Given the description of an element on the screen output the (x, y) to click on. 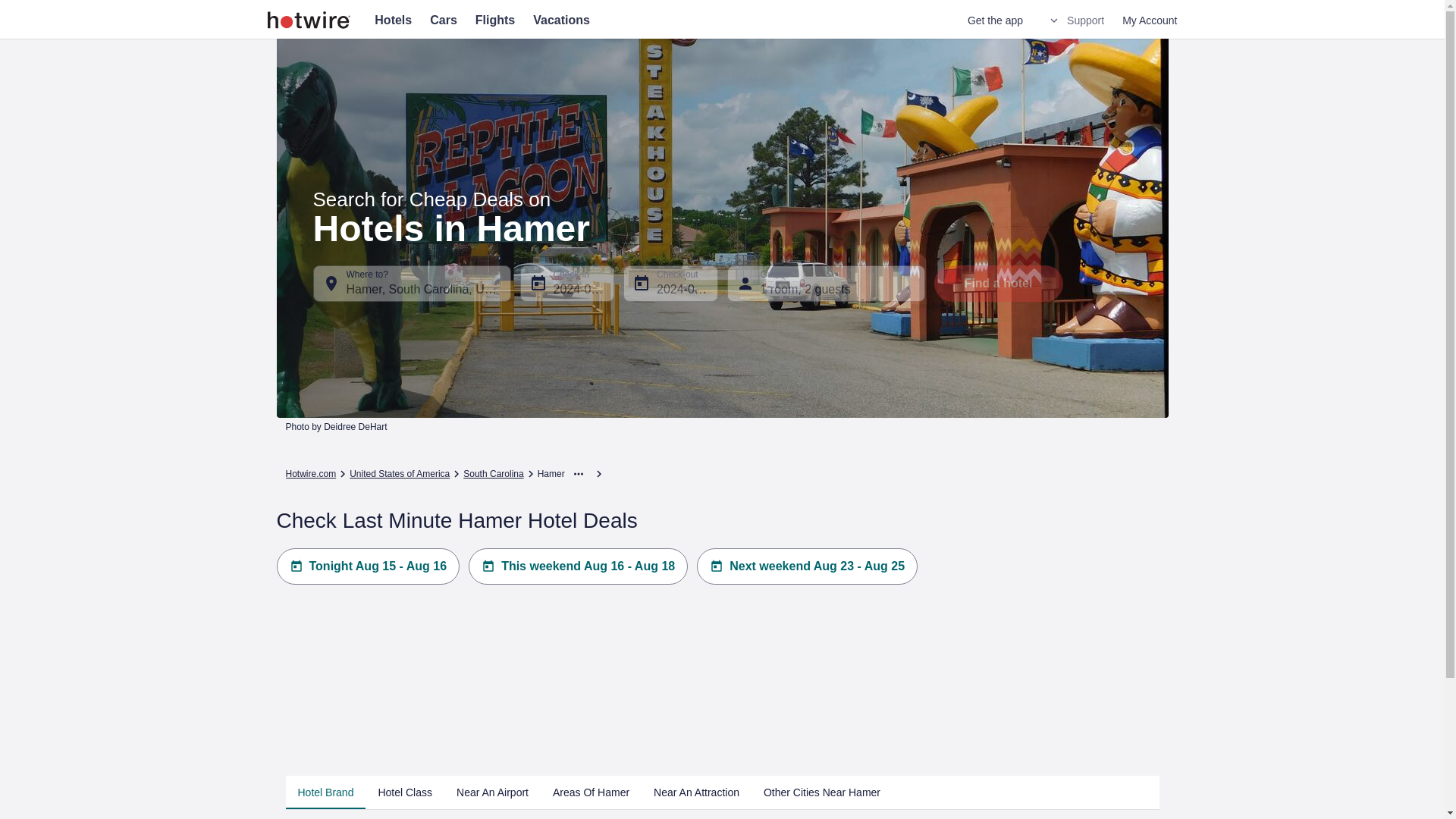
1 room, 2 guests (825, 283)
Hamer, South Carolina, United States of America (412, 283)
Flights (495, 19)
Hotel Class (404, 792)
Hotwire.com (310, 473)
Cars (443, 19)
Near An Airport (492, 792)
Near An Attraction (696, 792)
2024-08-16 (670, 283)
